Given the description of an element on the screen output the (x, y) to click on. 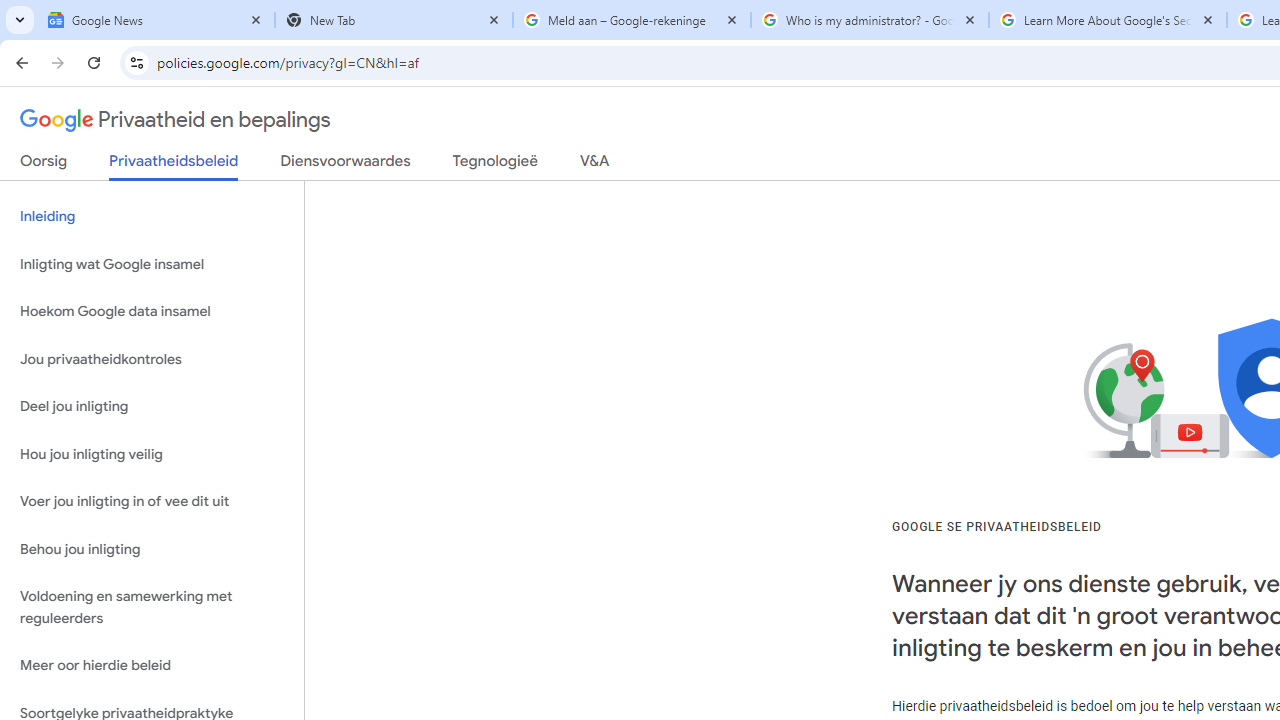
Privaatheidsbeleid (173, 166)
Jou privaatheidkontroles (152, 358)
Google News (156, 20)
Who is my administrator? - Google Account Help (870, 20)
Voldoening en samewerking met reguleerders (152, 607)
New Tab (394, 20)
Deel jou inligting (152, 407)
Inleiding (152, 216)
Diensvoorwaardes (345, 165)
